Given the description of an element on the screen output the (x, y) to click on. 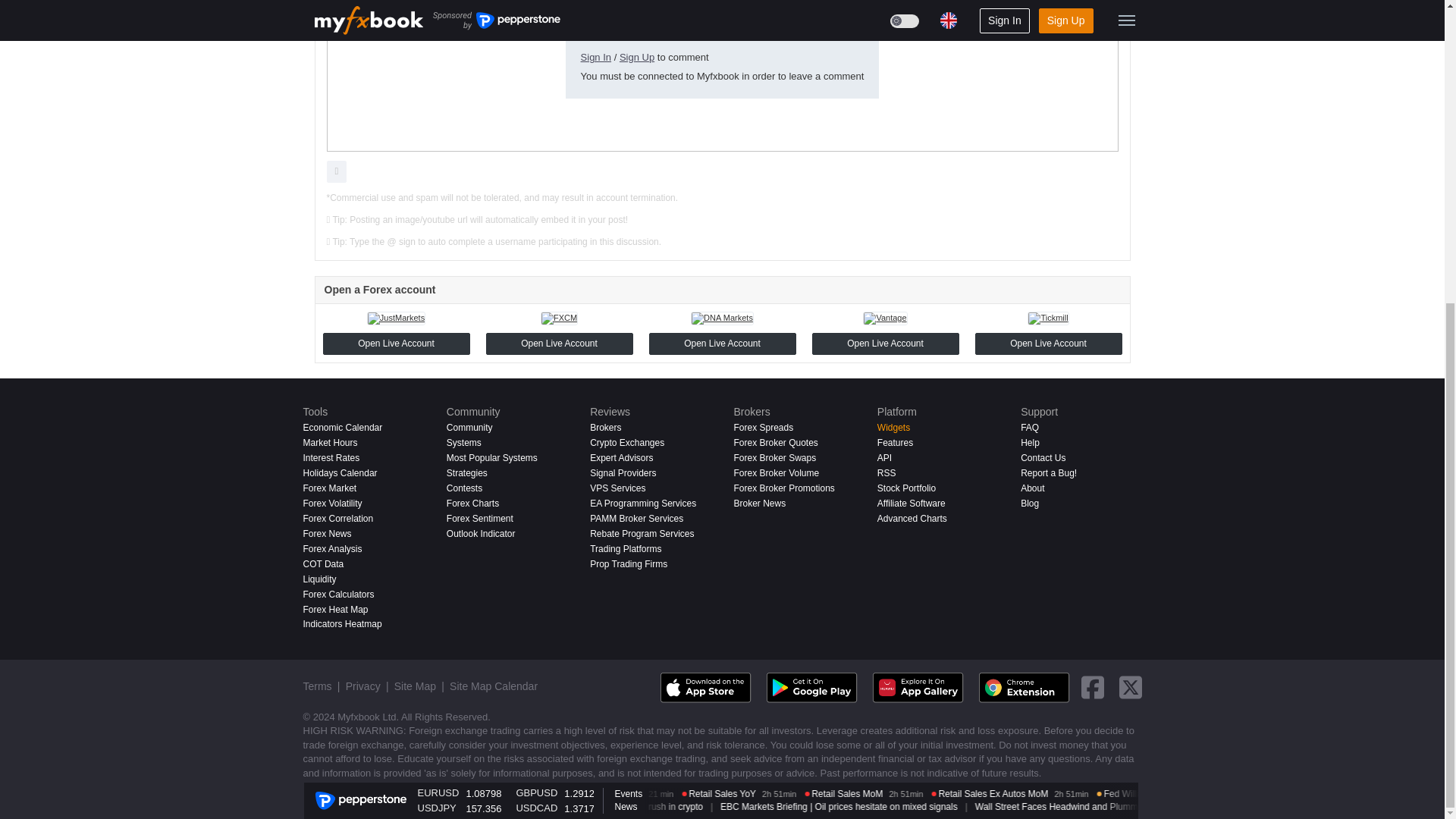
Myfxbook IOS (706, 687)
Myfxbook Android (812, 687)
Myfxbook Chrome Extenstion (1024, 687)
Myfxbook App Gallery (917, 687)
